Given the description of an element on the screen output the (x, y) to click on. 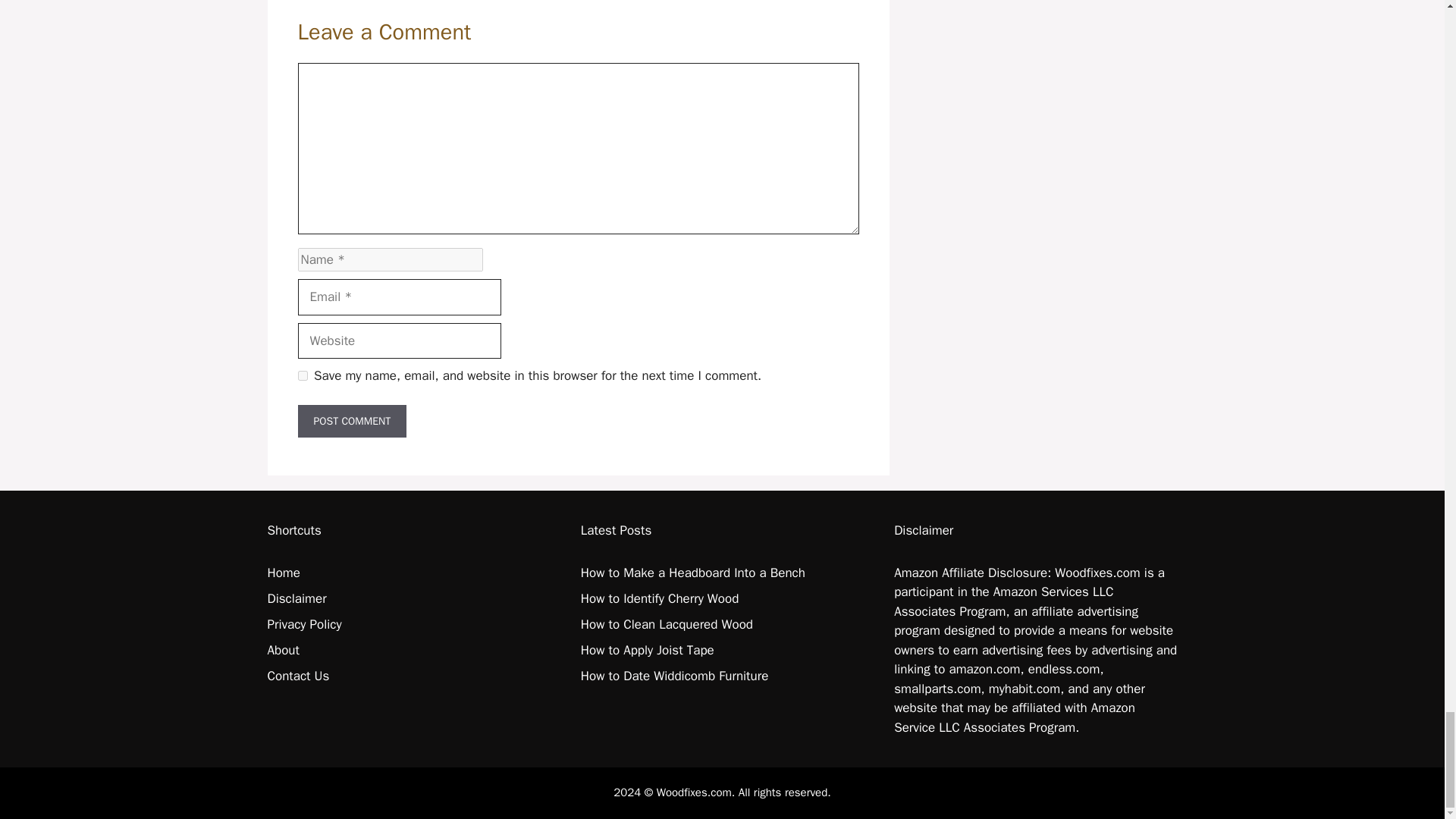
Post Comment (351, 420)
yes (302, 375)
